Given the description of an element on the screen output the (x, y) to click on. 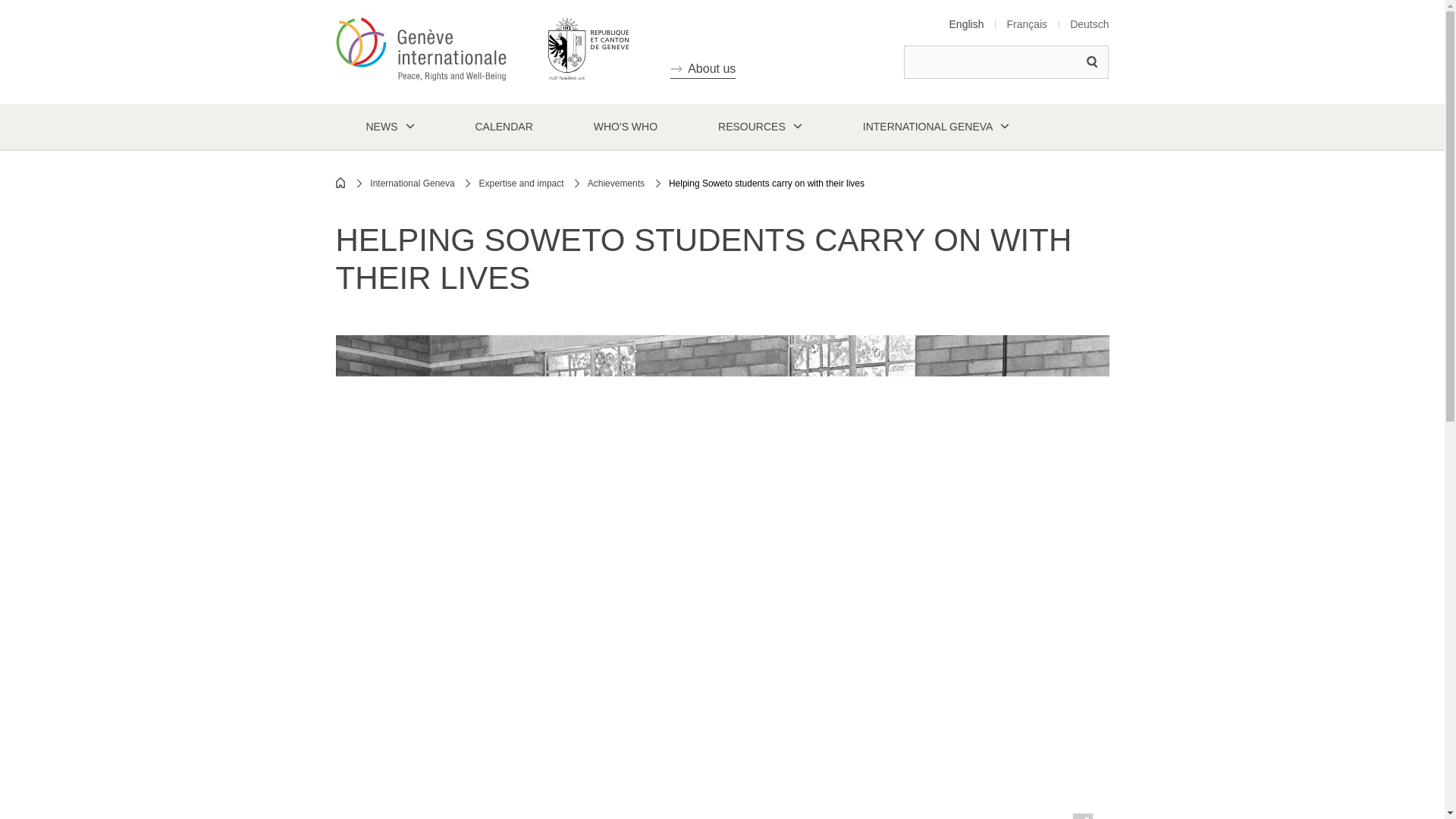
Enter the terms you wish to search for. (1006, 61)
English (966, 24)
Deutsch (1089, 24)
Search (1092, 62)
Search (1092, 62)
INTERNATIONAL GENEVA (936, 126)
NEWS (389, 126)
RESOURCES (759, 126)
WHO'S WHO (625, 126)
